Given the description of an element on the screen output the (x, y) to click on. 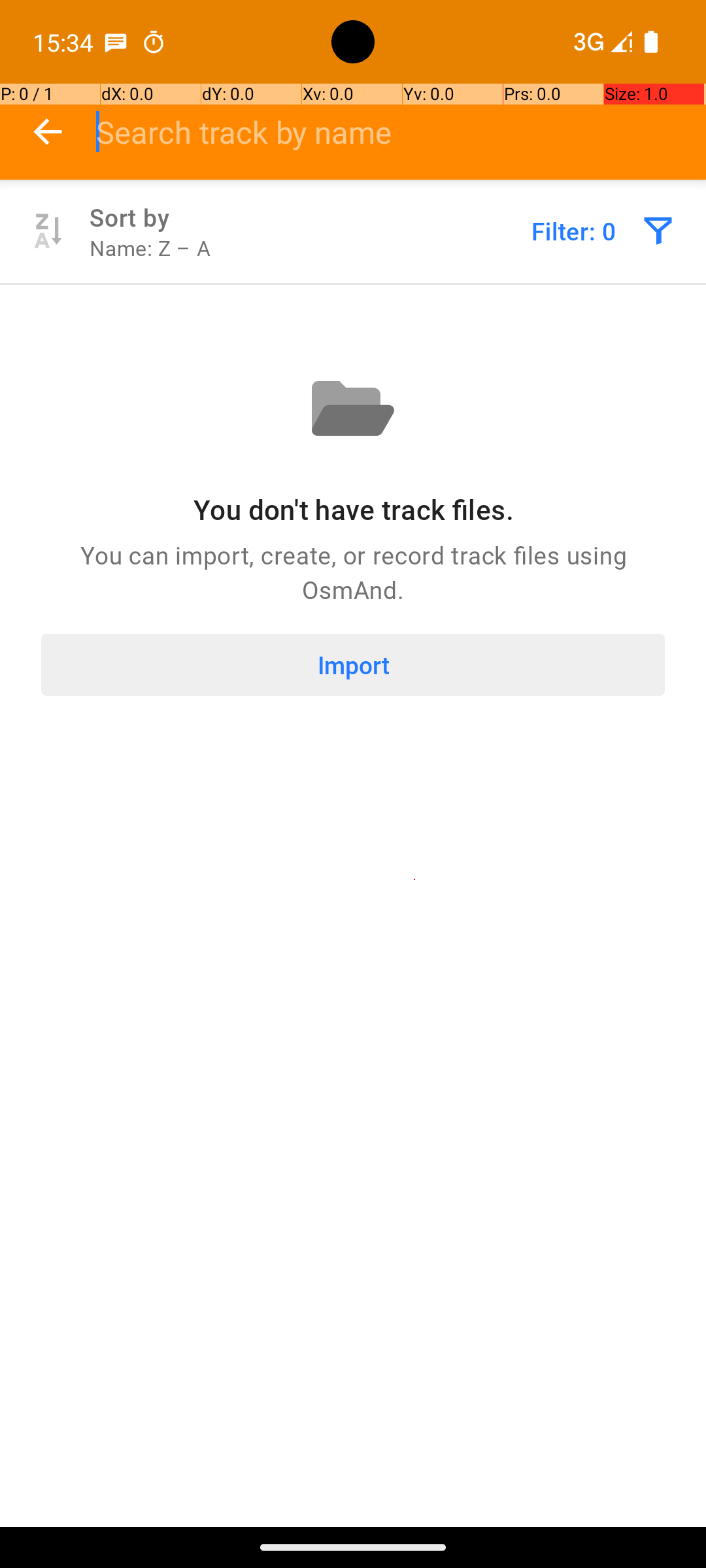
backward Element type: android.widget.ImageButton (48, 131)
Search track by name Element type: android.widget.EditText (401, 131)
You don't have track files. Element type: android.widget.TextView (352, 508)
You can import, create, or record track files using OsmAnd. Element type: android.widget.TextView (352, 572)
Name: Z – A Element type: android.widget.TextView (150, 247)
Filter: 0 Element type: android.widget.TextView (573, 230)
Import Element type: android.widget.TextView (352, 664)
